Given the description of an element on the screen output the (x, y) to click on. 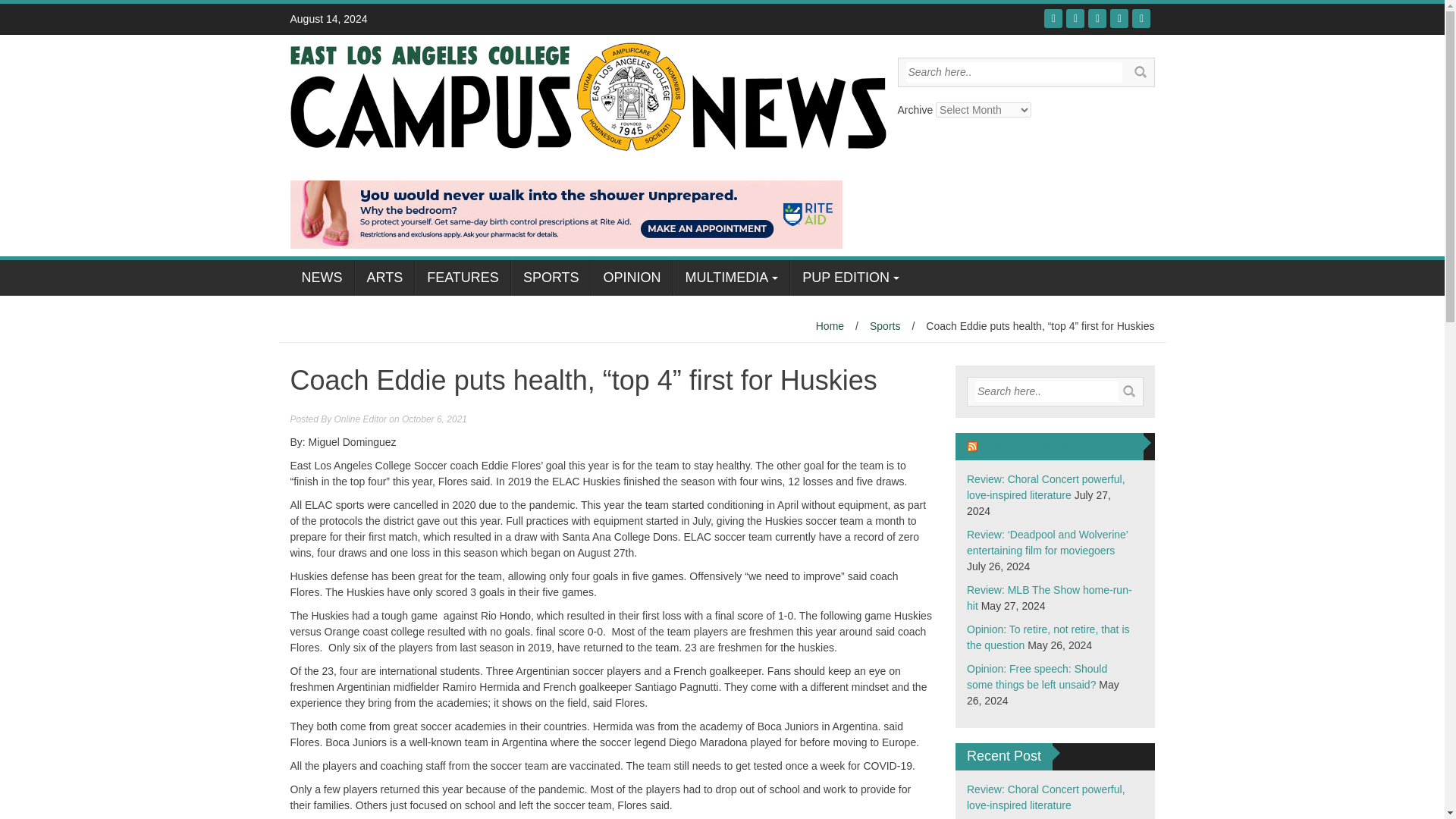
FEATURES (462, 277)
NEWS (321, 277)
Youtube (1096, 18)
MULTIMEDIA (731, 277)
PUP EDITION (850, 277)
Facebook (1052, 18)
Posts by Online Editor (360, 419)
Instagram (1118, 18)
OPINION (631, 277)
Sports (884, 326)
